Given the description of an element on the screen output the (x, y) to click on. 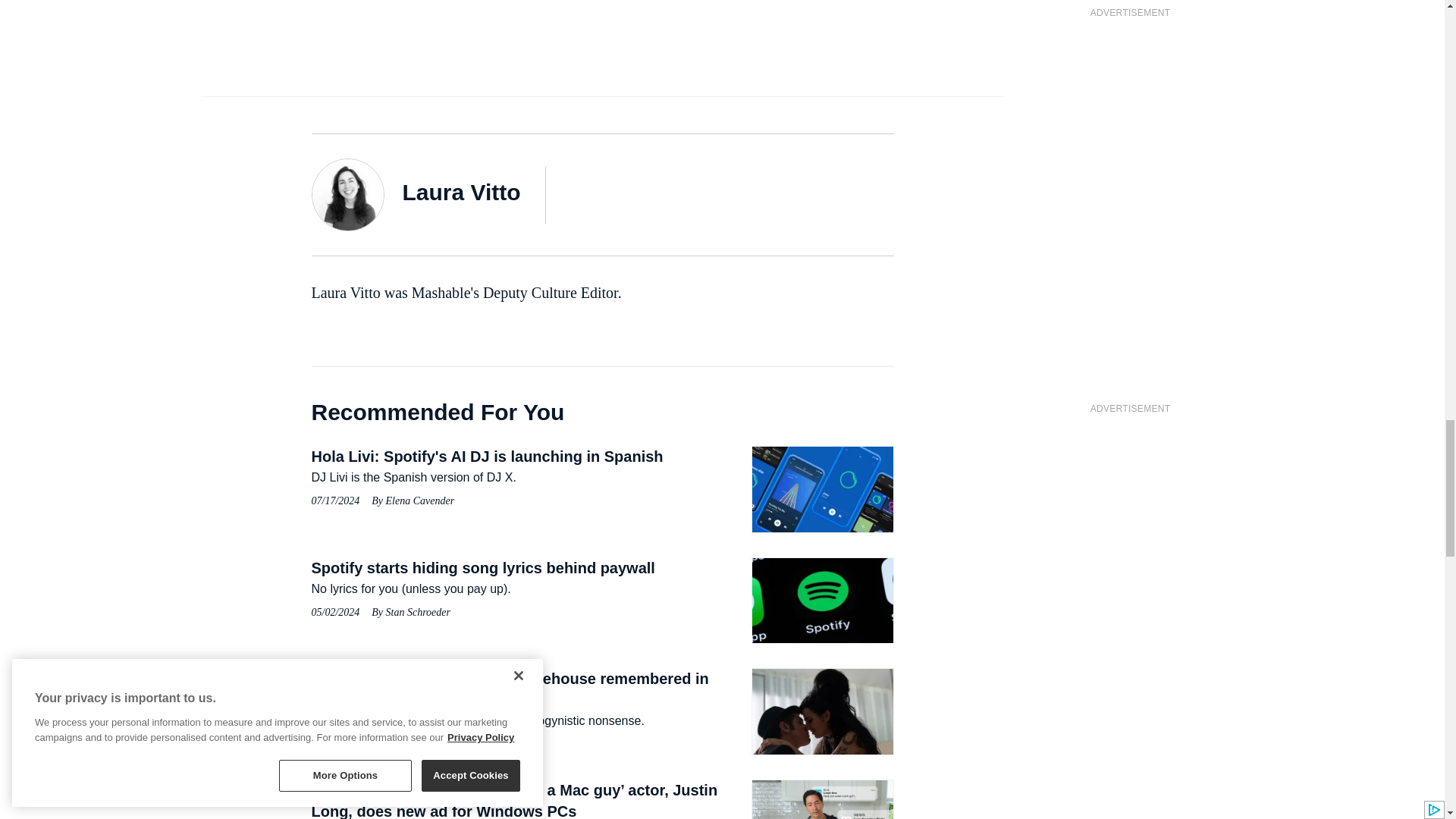
3rd party ad content (1129, 518)
3rd party ad content (601, 11)
